Given the description of an element on the screen output the (x, y) to click on. 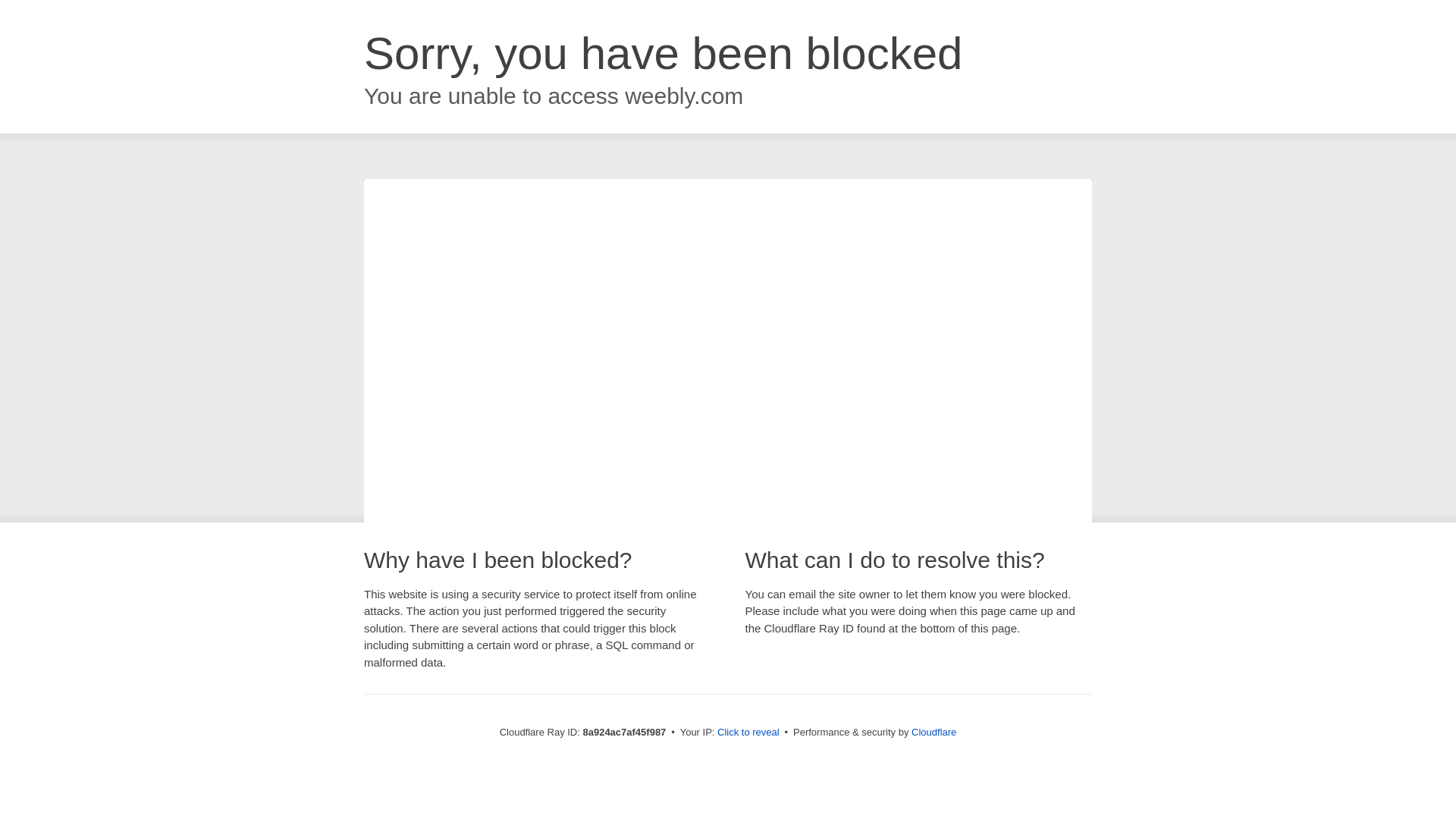
Cloudflare (933, 731)
Click to reveal (747, 732)
